Given the description of an element on the screen output the (x, y) to click on. 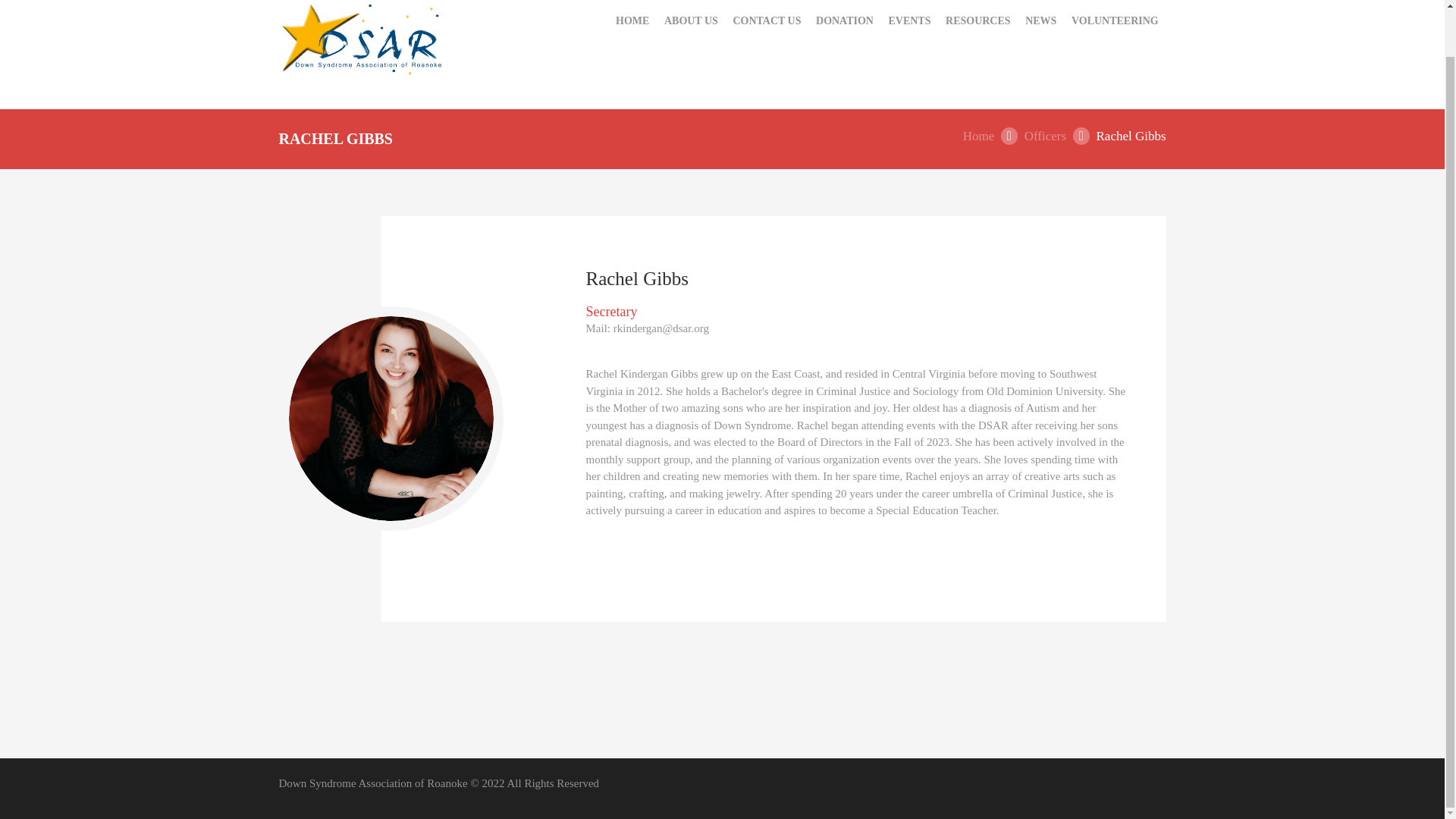
ABOUT US (690, 21)
CONTACT US (767, 21)
Officers (1045, 136)
Rachel Gibbs (390, 418)
HOME (632, 21)
Home (978, 136)
NEWS (1040, 21)
EVENTS (909, 21)
VOLUNTEERING (1115, 21)
RESOURCES (977, 21)
DONATION (844, 21)
